Given the description of an element on the screen output the (x, y) to click on. 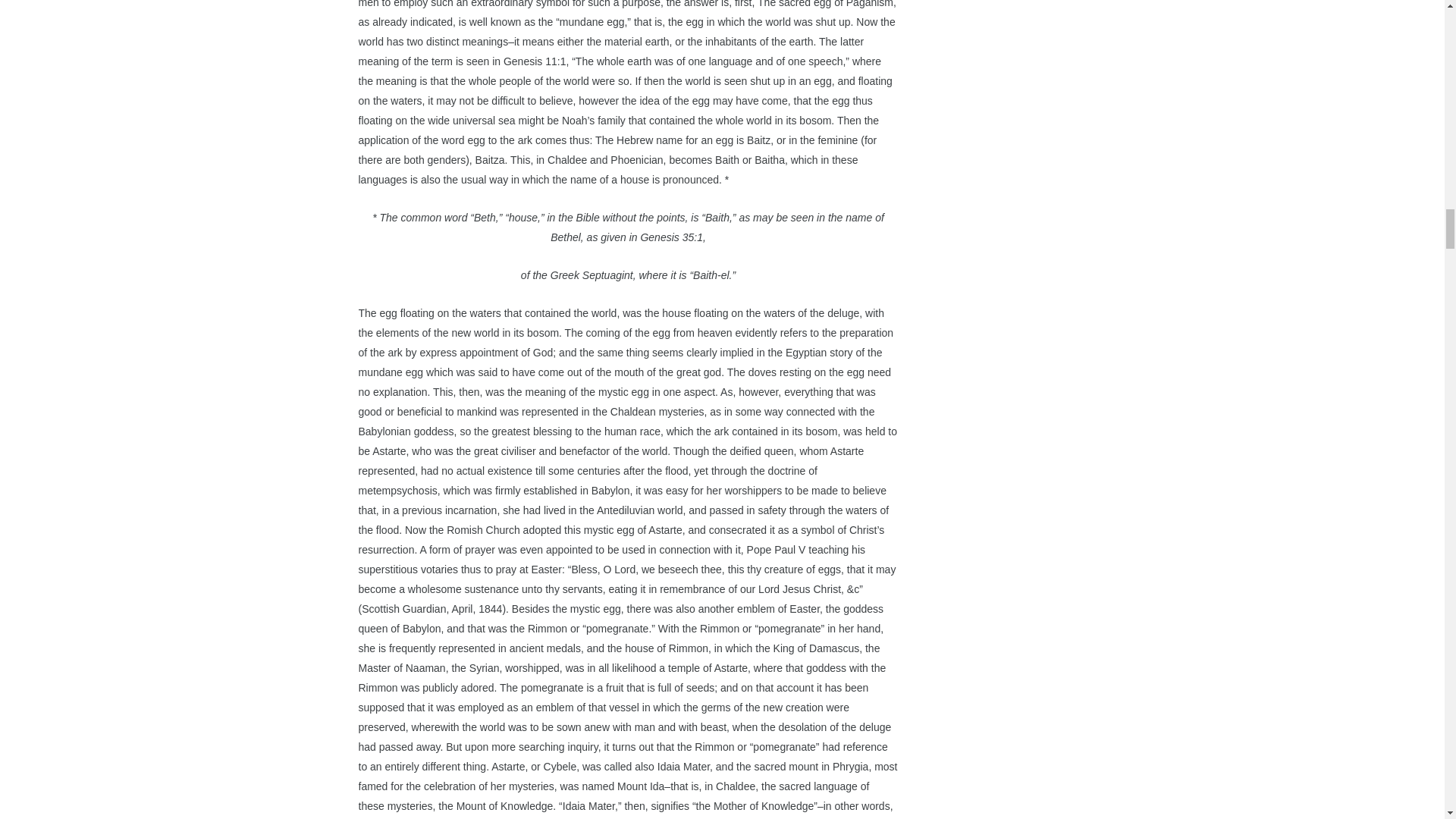
Page 96 (628, 123)
